Given the description of an element on the screen output the (x, y) to click on. 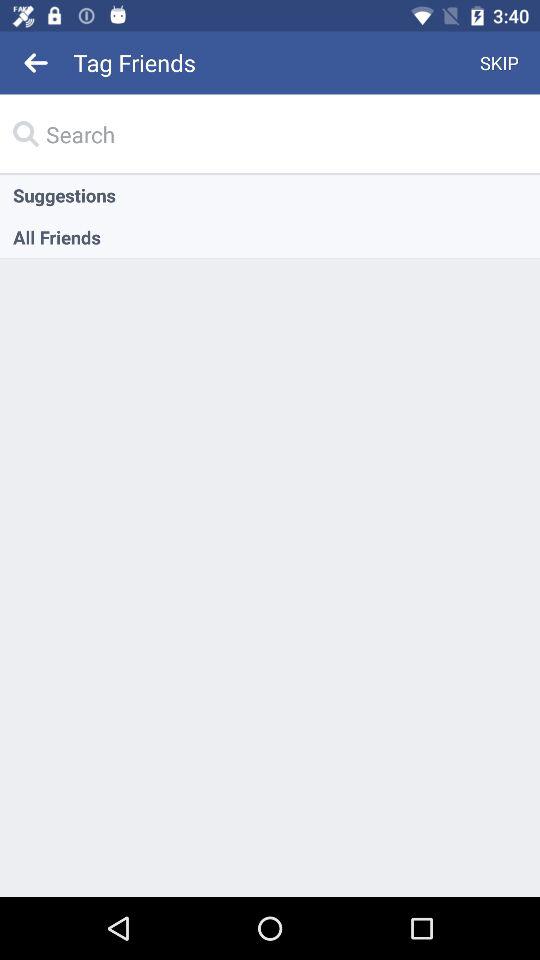
turn on skip icon (499, 62)
